Given the description of an element on the screen output the (x, y) to click on. 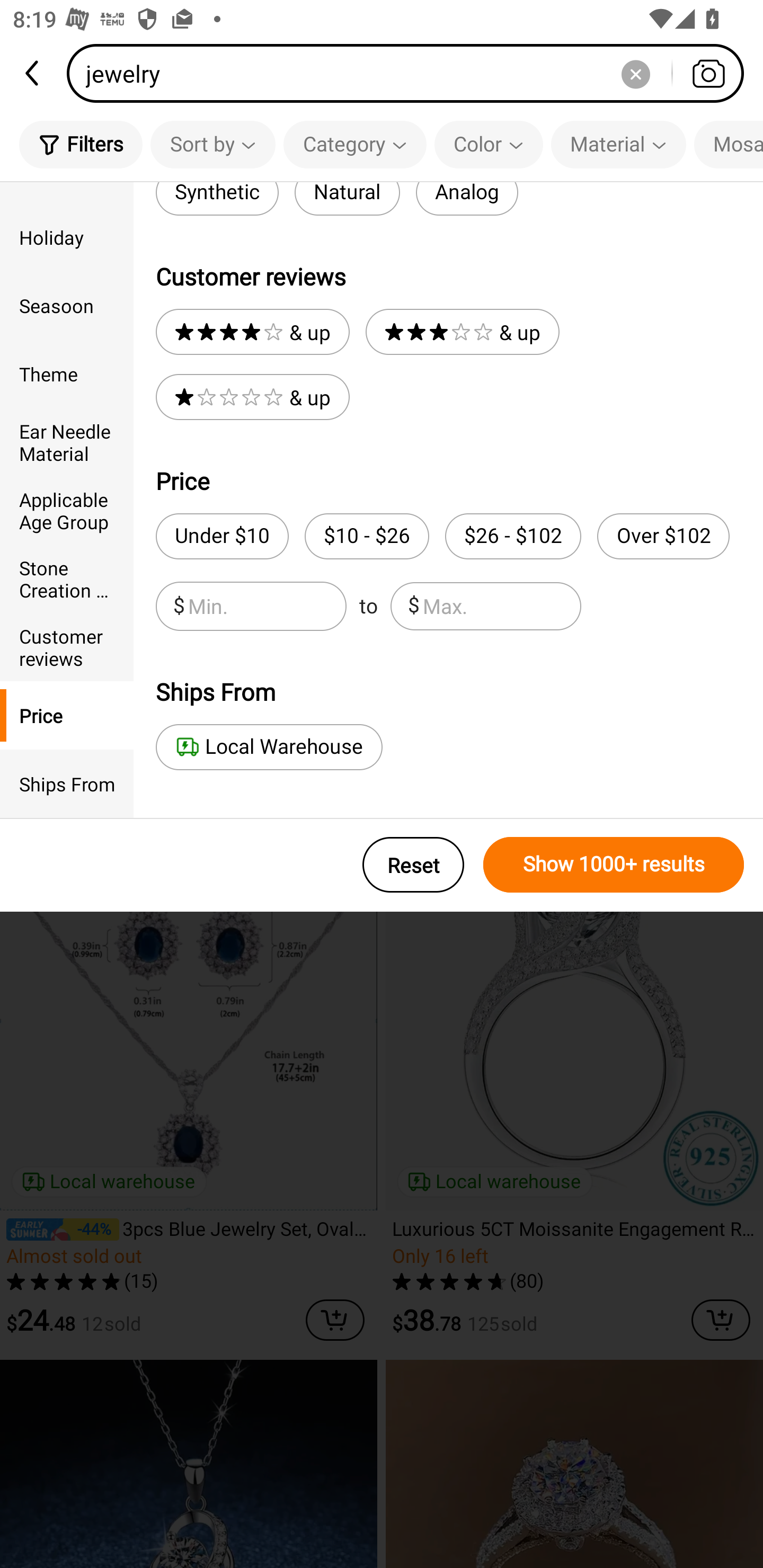
back (33, 72)
jewelry (411, 73)
Delete search history (635, 73)
Search by photo (708, 73)
Filters (80, 143)
Sort by (212, 143)
Category (354, 143)
Color (488, 143)
Material (617, 143)
Mosaic Material (728, 143)
Occasion (66, 191)
Synthetic (216, 198)
Natural (346, 198)
Analog (466, 198)
Holiday (66, 236)
Seasoon (66, 305)
& up (252, 331)
& up (462, 331)
Theme (66, 373)
& up (252, 397)
